Given the description of an element on the screen output the (x, y) to click on. 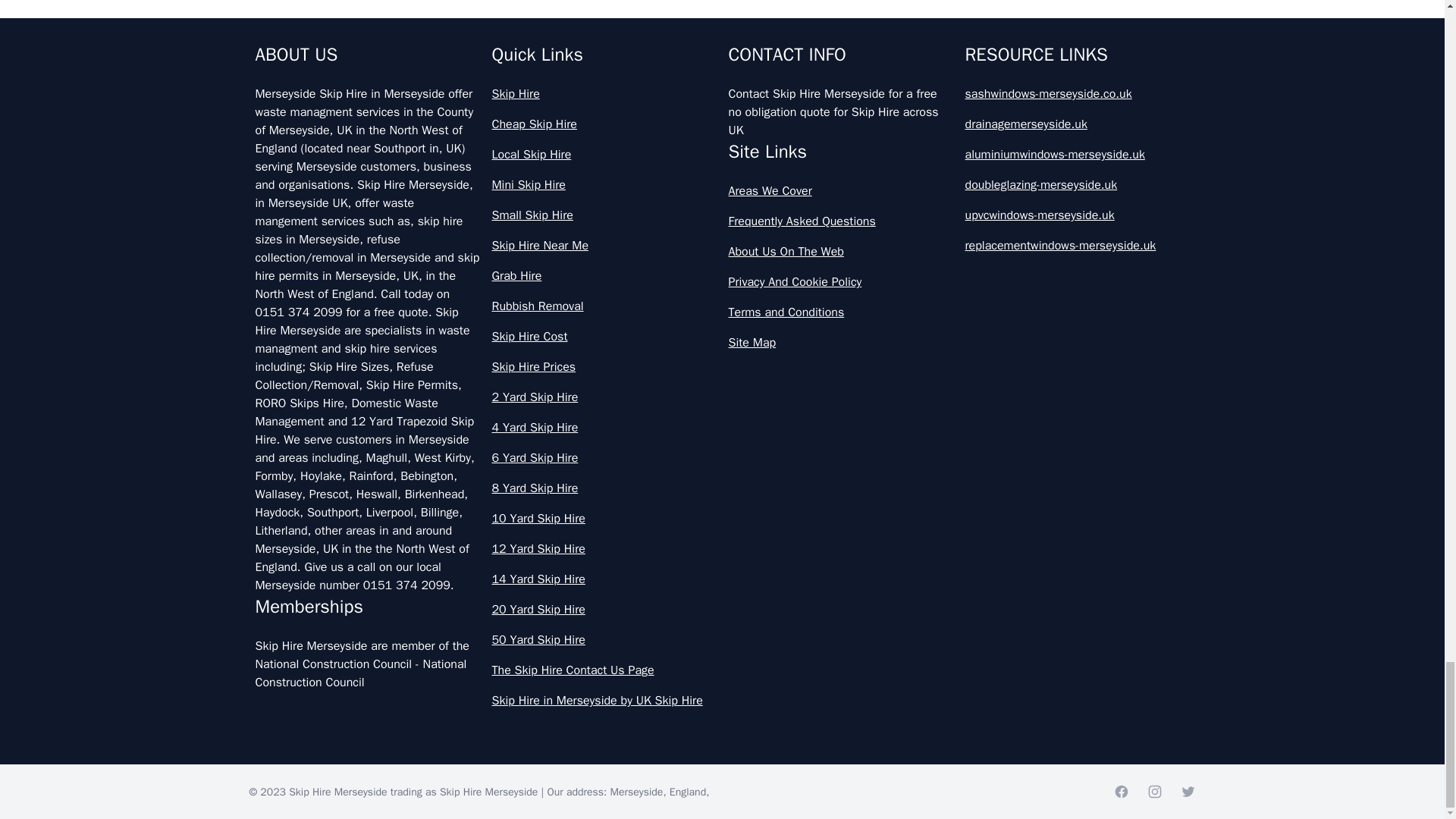
Skip Hire Near Me (604, 245)
replacementwindows-merseyside.uk (1076, 245)
Skip Hire (604, 94)
Mini Skip Hire (604, 185)
Cheap Skip Hire (604, 124)
doubleglazing-merseyside.uk (1076, 185)
Local Skip Hire (604, 154)
drainagemerseyside.uk (1076, 124)
aluminiumwindows-merseyside.uk (1076, 154)
sashwindows-merseyside.co.uk (1076, 94)
